Given the description of an element on the screen output the (x, y) to click on. 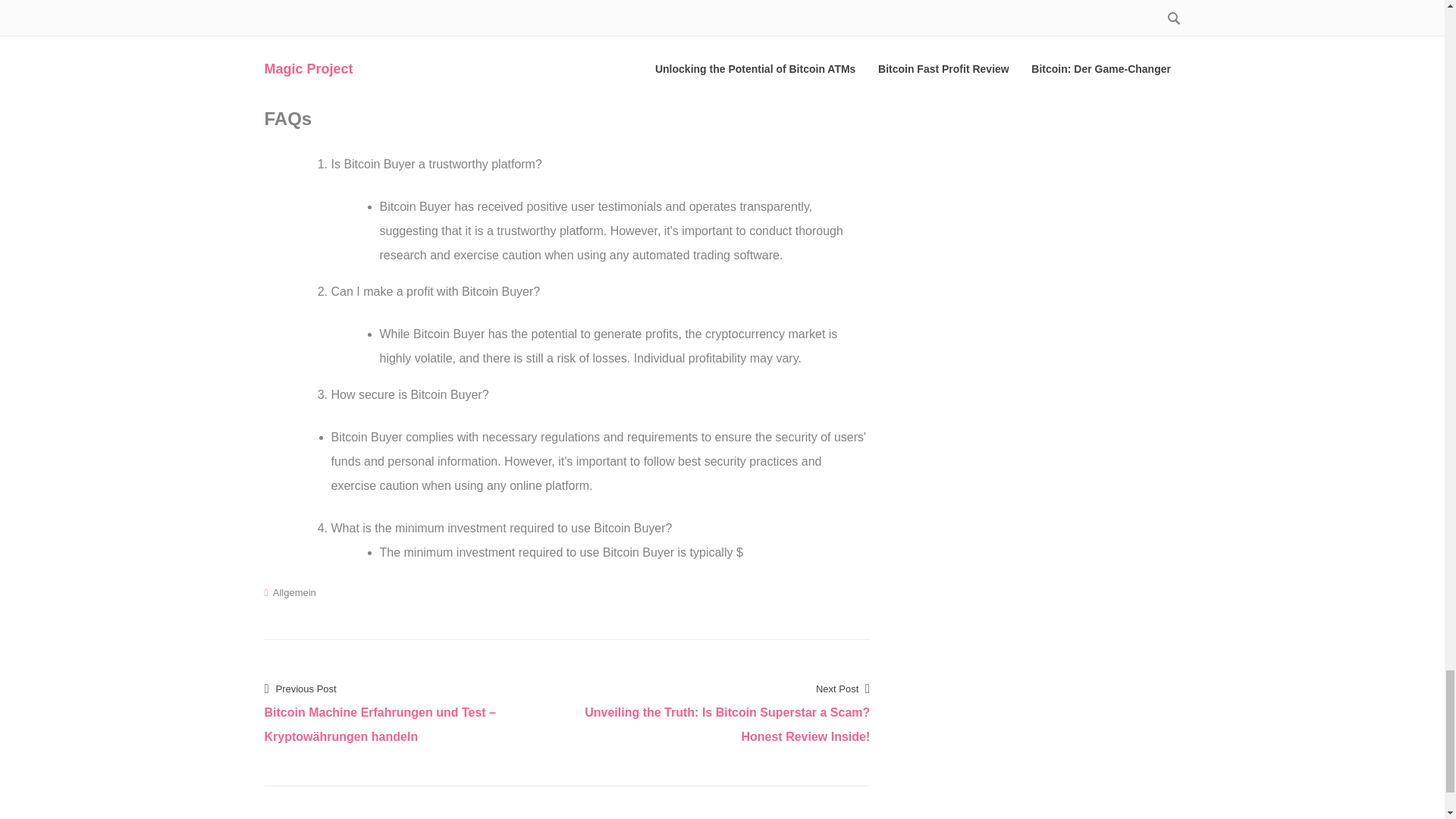
Allgemein (294, 592)
